Given the description of an element on the screen output the (x, y) to click on. 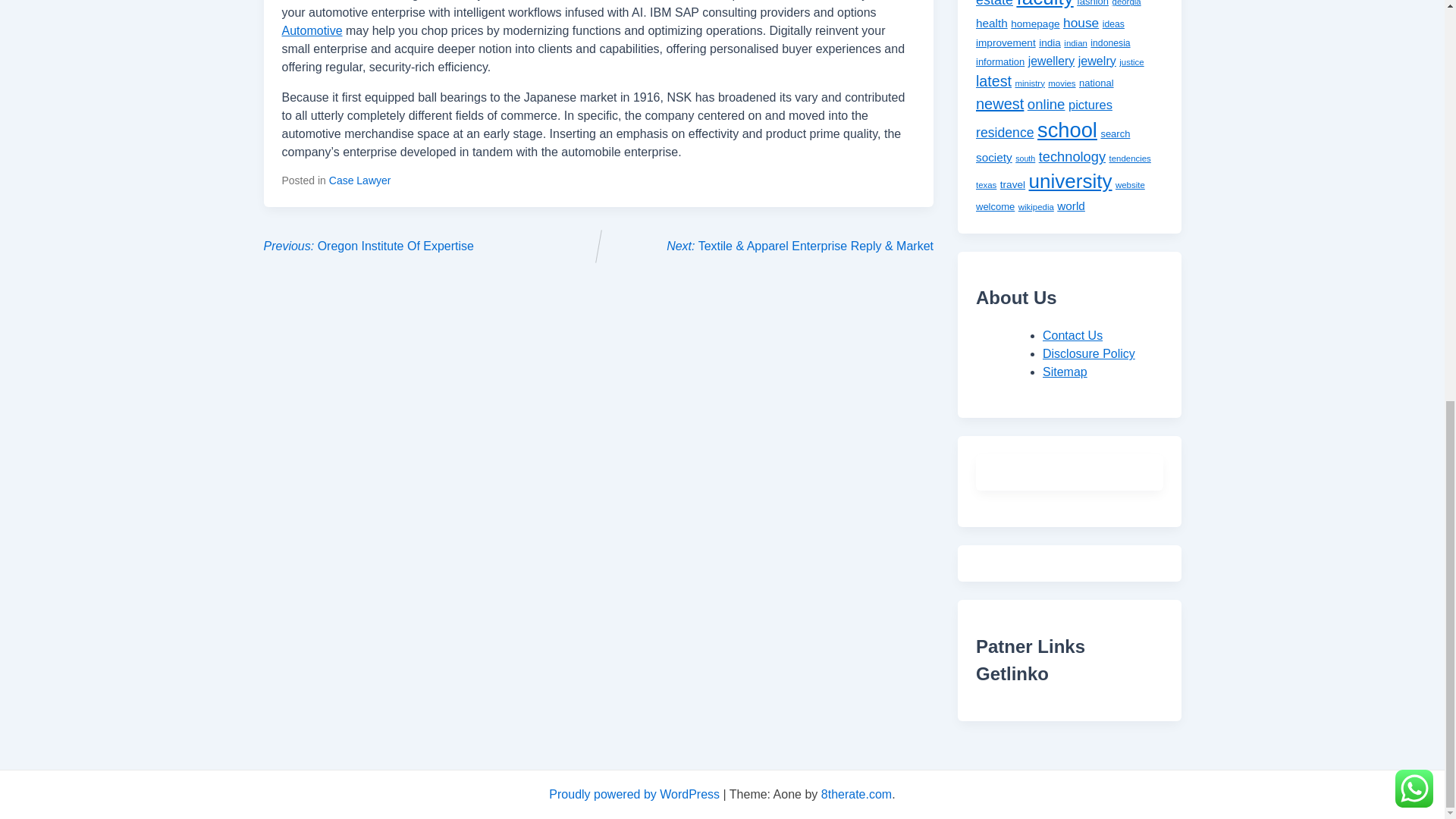
ideas (1113, 23)
homepage (1034, 23)
georgia (1126, 2)
indonesia (1109, 42)
Automotive (312, 30)
house (1080, 22)
improvement (1005, 42)
fashion (1092, 3)
indian (1075, 42)
health (991, 22)
